Given the description of an element on the screen output the (x, y) to click on. 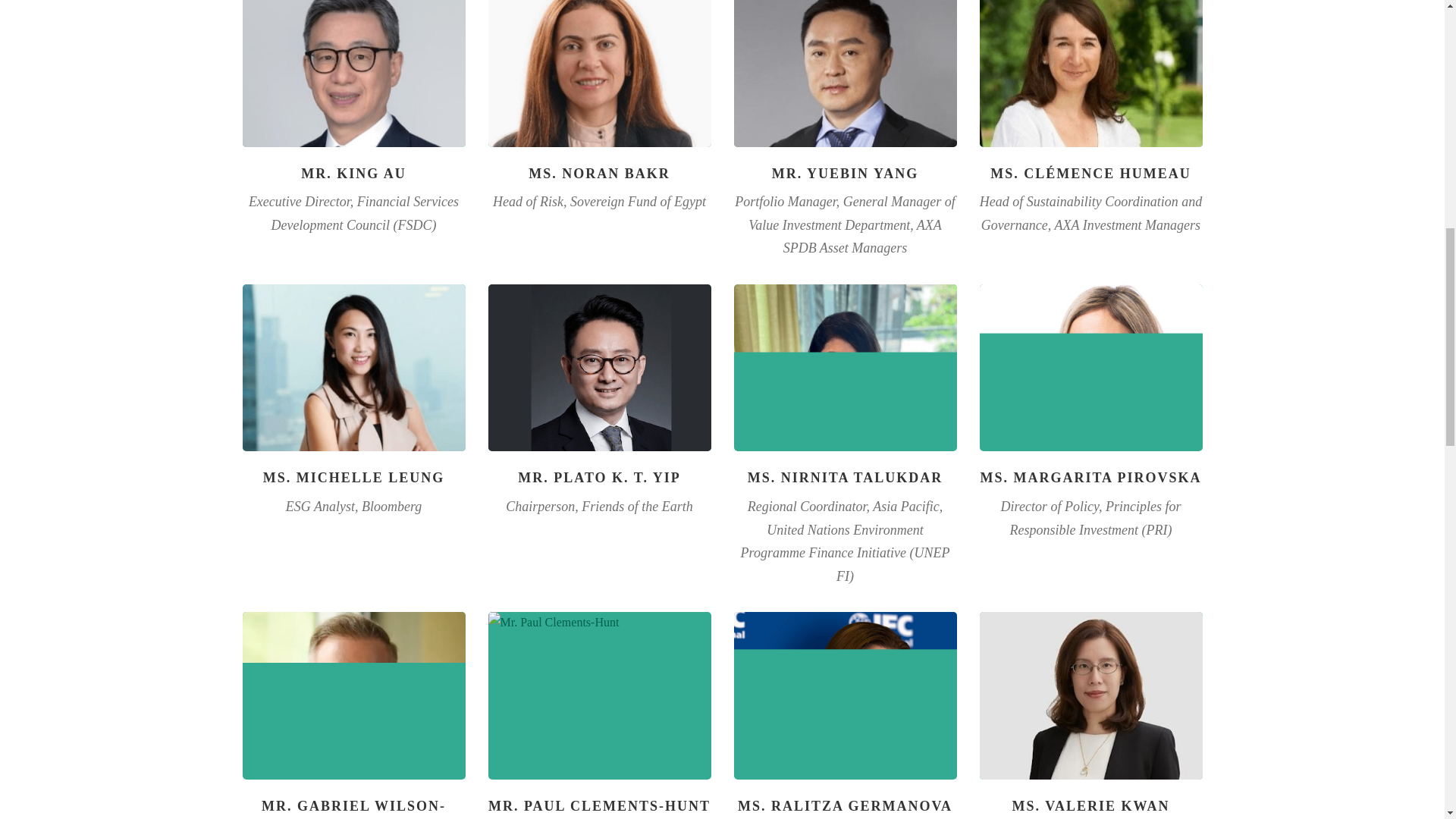
MS. NORAN BAKR (598, 172)
MR. KING AU (353, 172)
MR. YUEBIN YANG (844, 172)
